Given the description of an element on the screen output the (x, y) to click on. 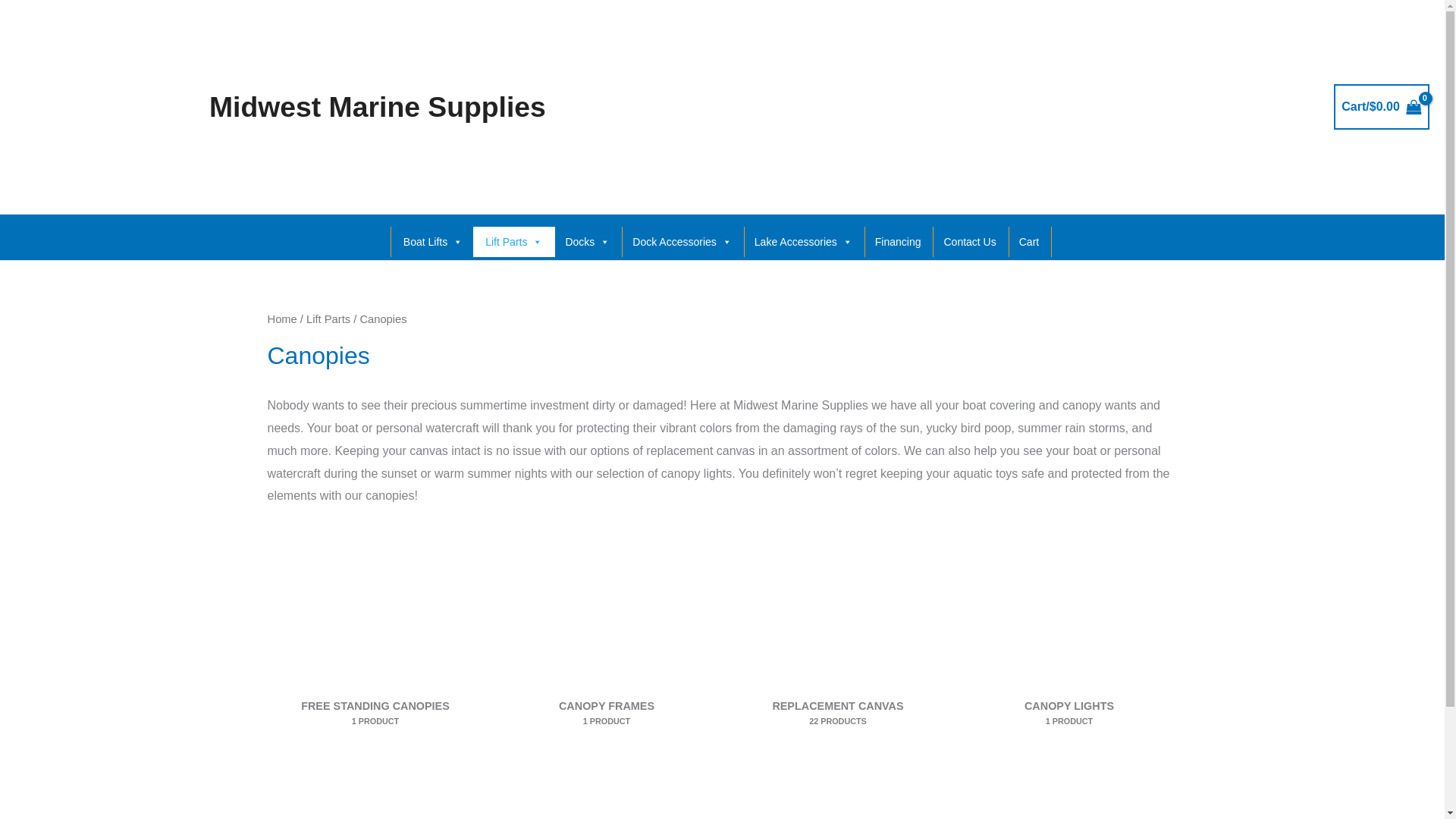
Midwest Marine Supplies (377, 106)
Boat Lifts (433, 241)
Lift Parts (513, 241)
